Given the description of an element on the screen output the (x, y) to click on. 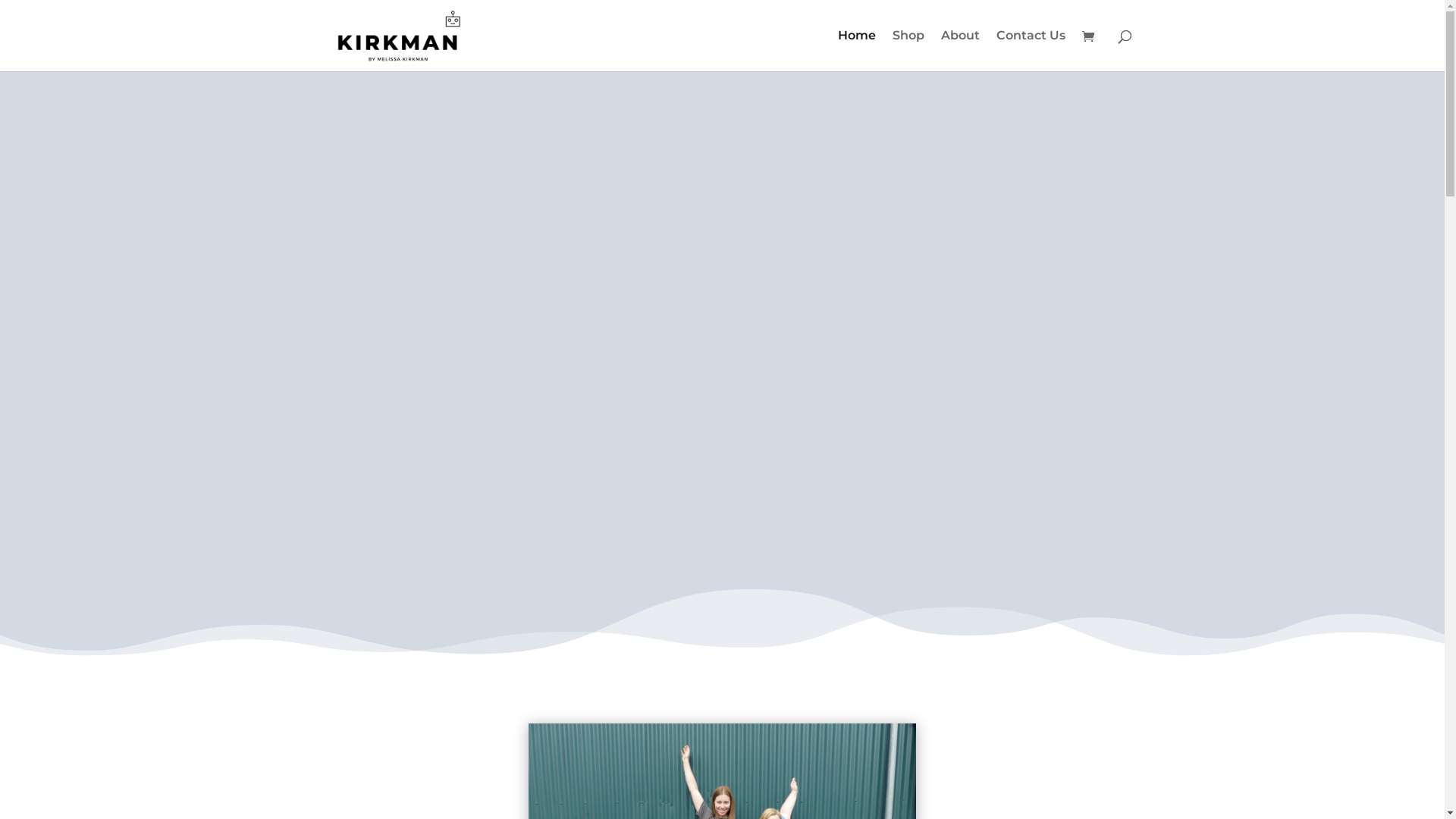
About Element type: text (959, 50)
Contact Us Element type: text (1030, 50)
Home Element type: text (856, 50)
Shop Element type: text (907, 50)
